Given the description of an element on the screen output the (x, y) to click on. 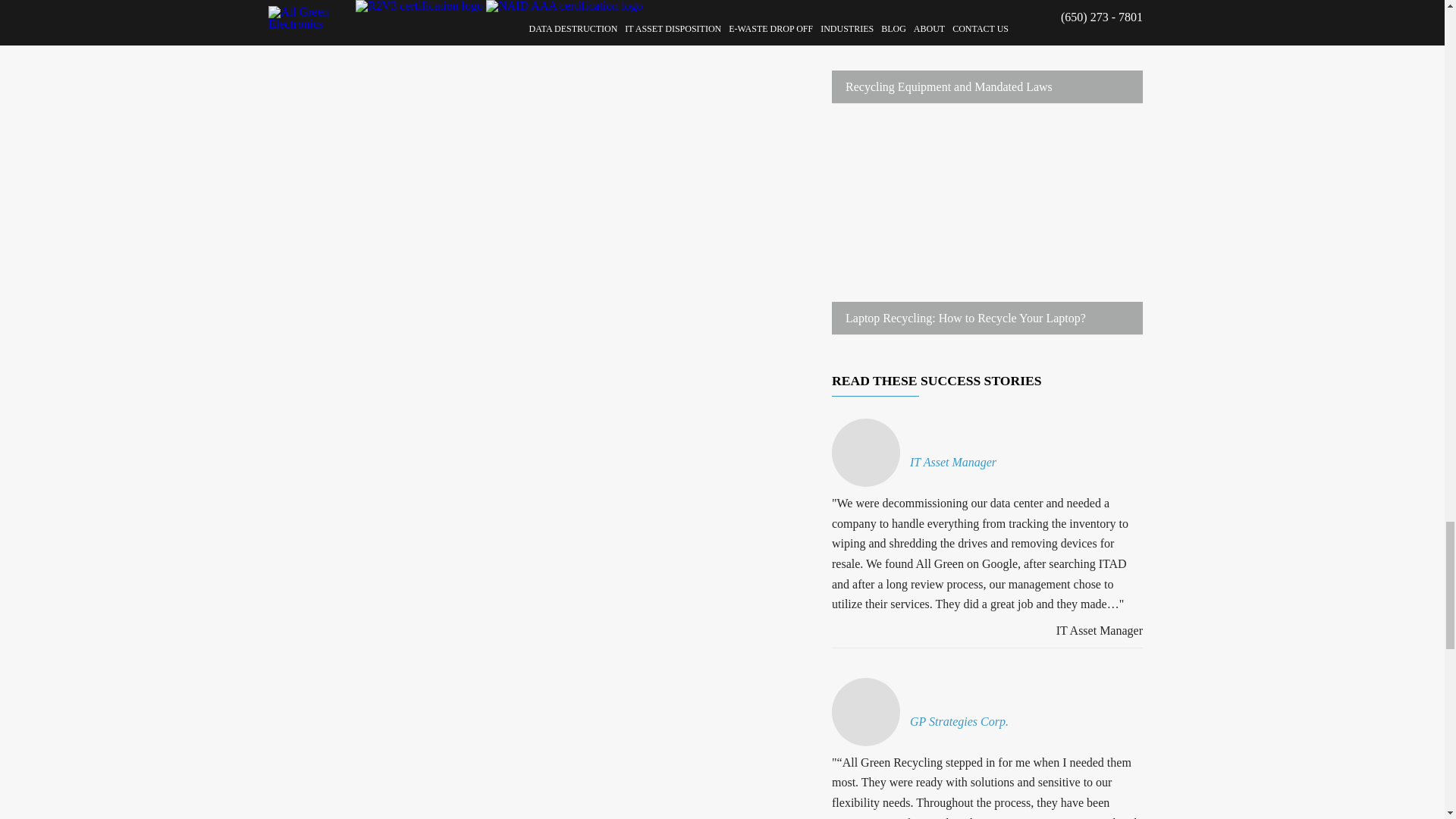
Recycling equipment and mandated laws 8 (986, 51)
Gp strategies corp. 11 (865, 712)
Laptop recycling: how to recycle your laptop? 9 (986, 229)
It asset manager 10 (865, 452)
